Given the description of an element on the screen output the (x, y) to click on. 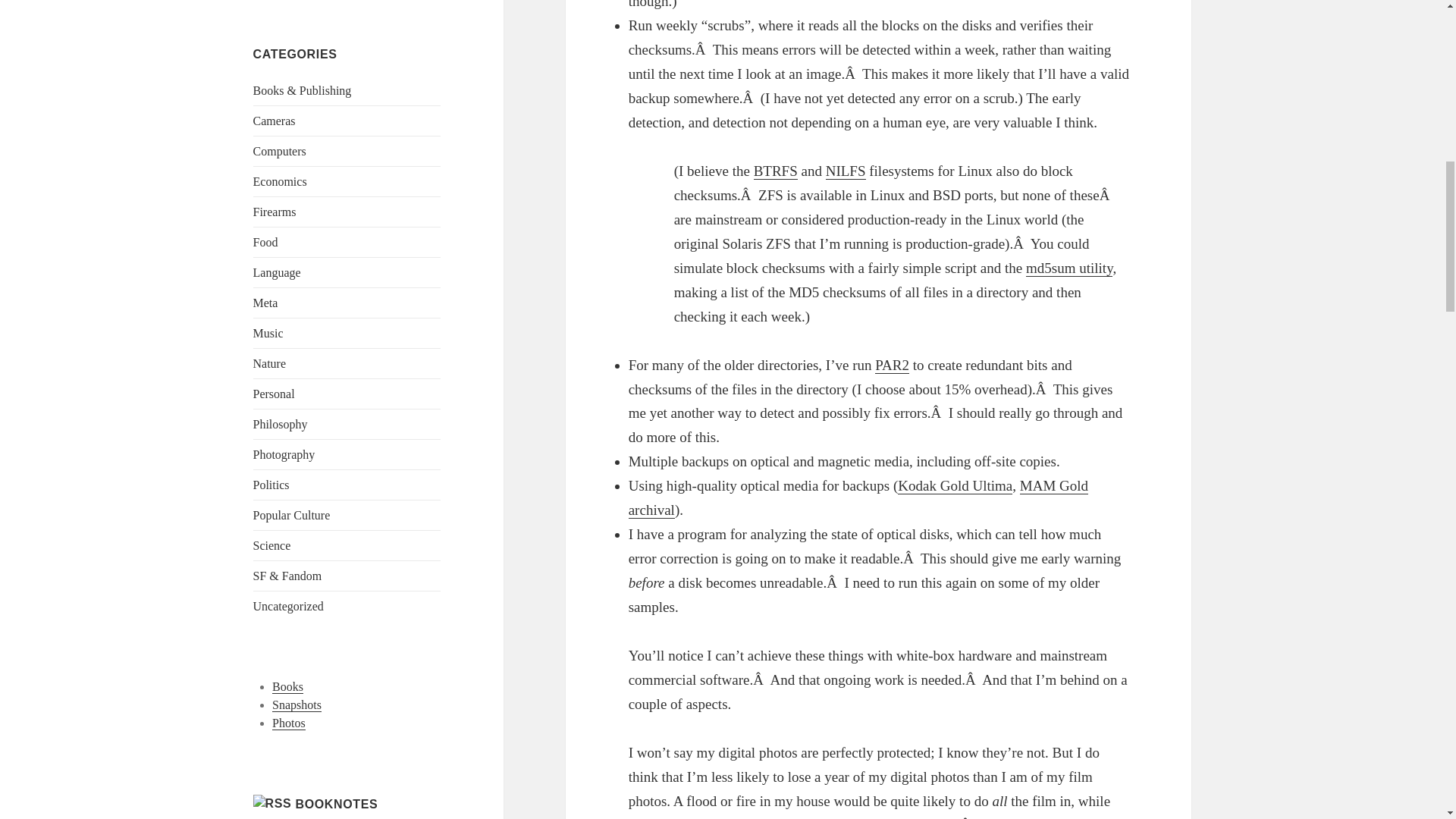
Photography (284, 454)
BOOKNOTES (336, 803)
Music (268, 332)
Popular Culture (291, 514)
Computers (279, 151)
Language (277, 272)
Personal (274, 393)
Food (265, 241)
Nature (269, 363)
Cameras (274, 120)
